Given the description of an element on the screen output the (x, y) to click on. 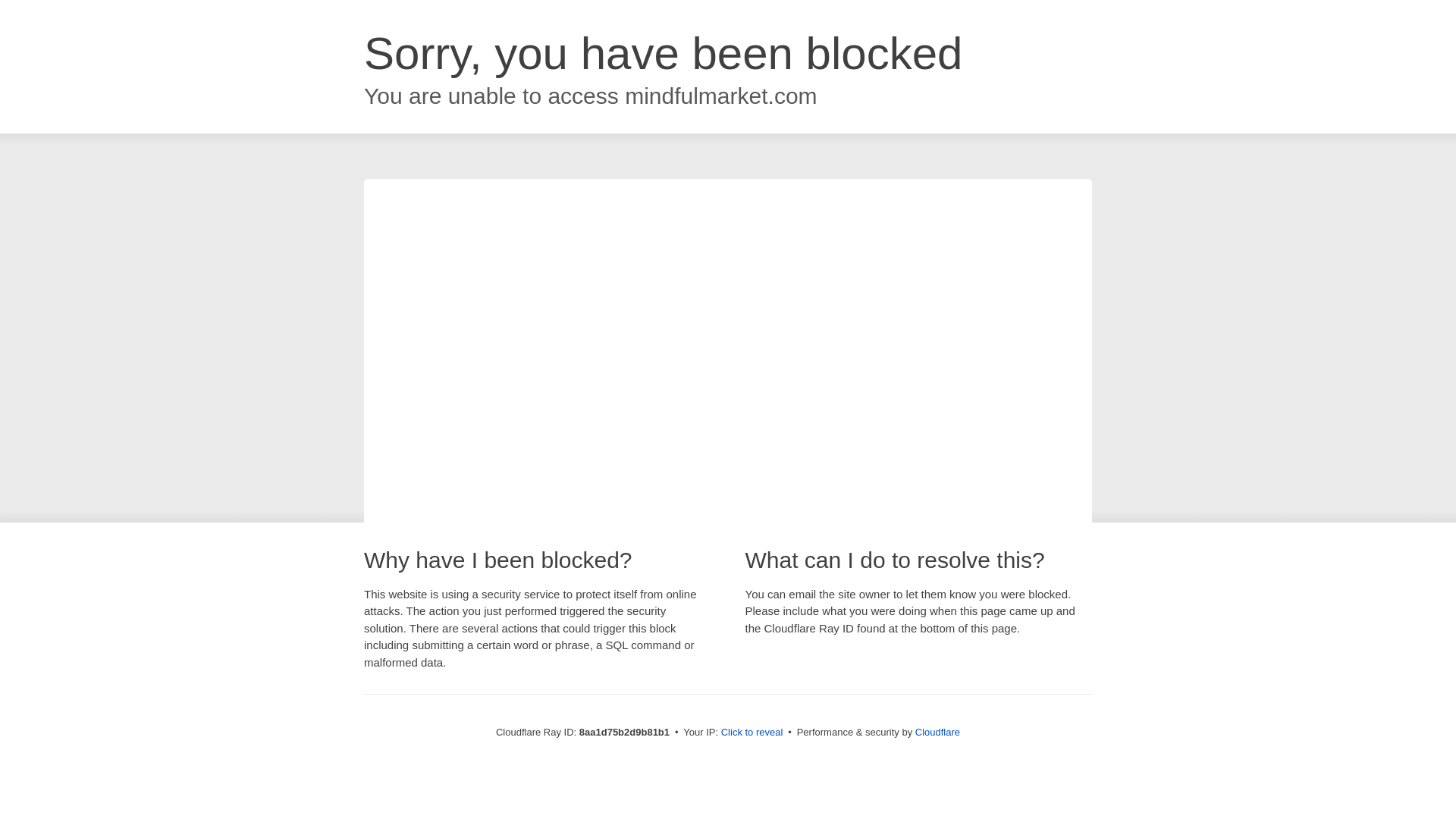
Cloudflare (937, 731)
Click to reveal (751, 732)
